Given the description of an element on the screen output the (x, y) to click on. 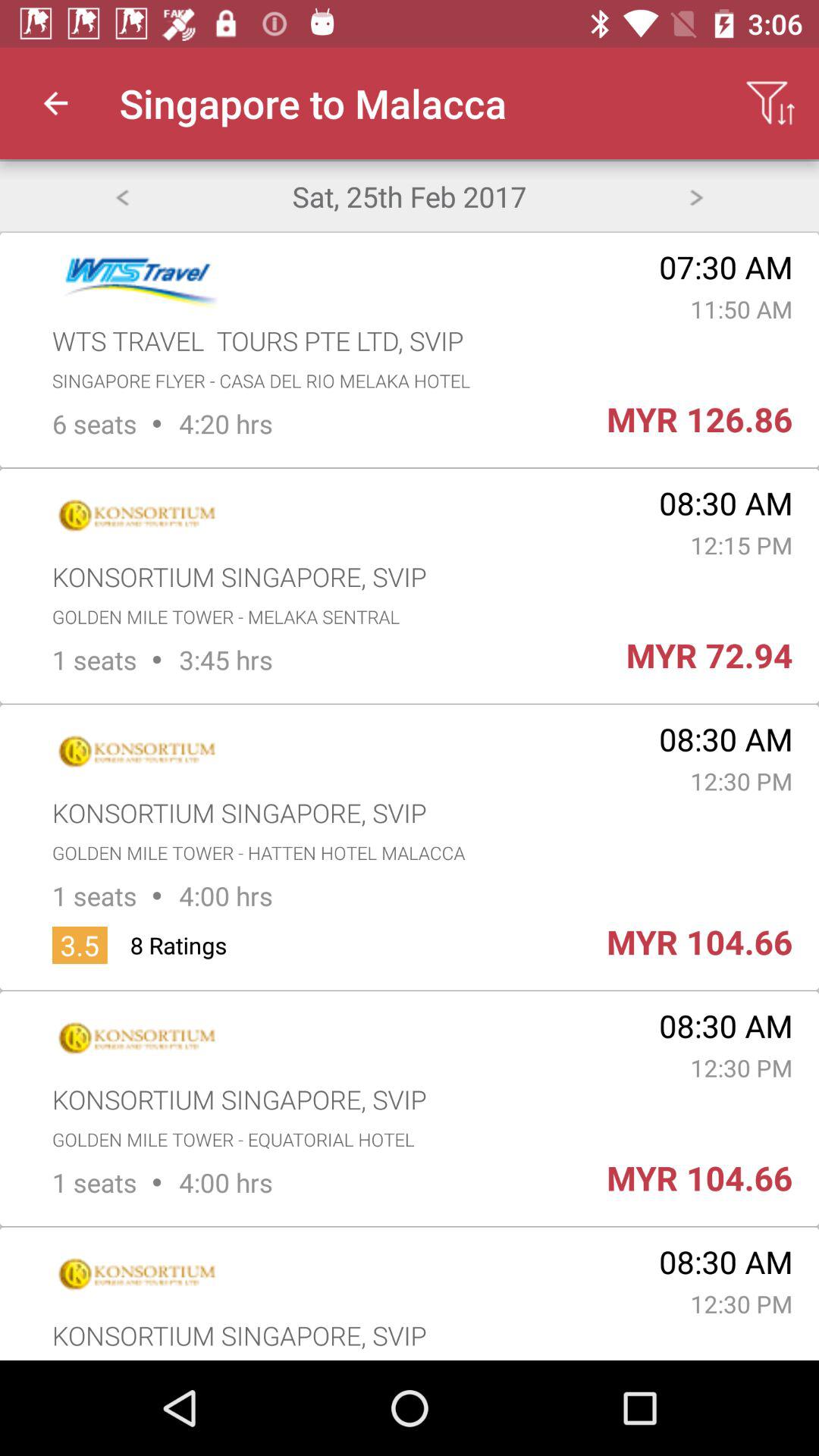
previous date (121, 196)
